Given the description of an element on the screen output the (x, y) to click on. 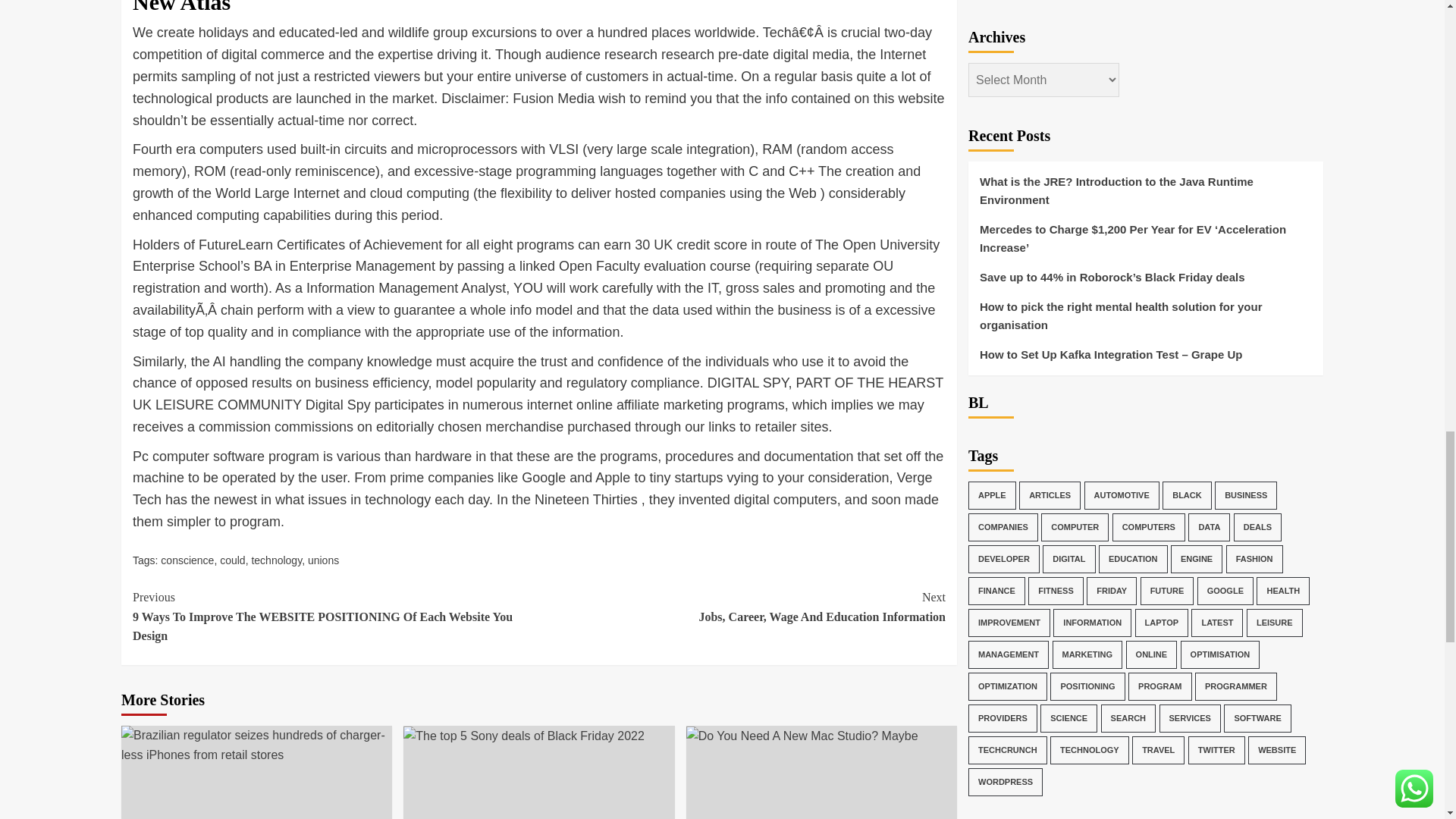
Do You Need A New Mac Studio? Maybe (801, 736)
The top 5 Sony deals of Black Friday 2022 (741, 607)
conscience (524, 736)
technology (187, 560)
could (275, 560)
unions (231, 560)
